Given the description of an element on the screen output the (x, y) to click on. 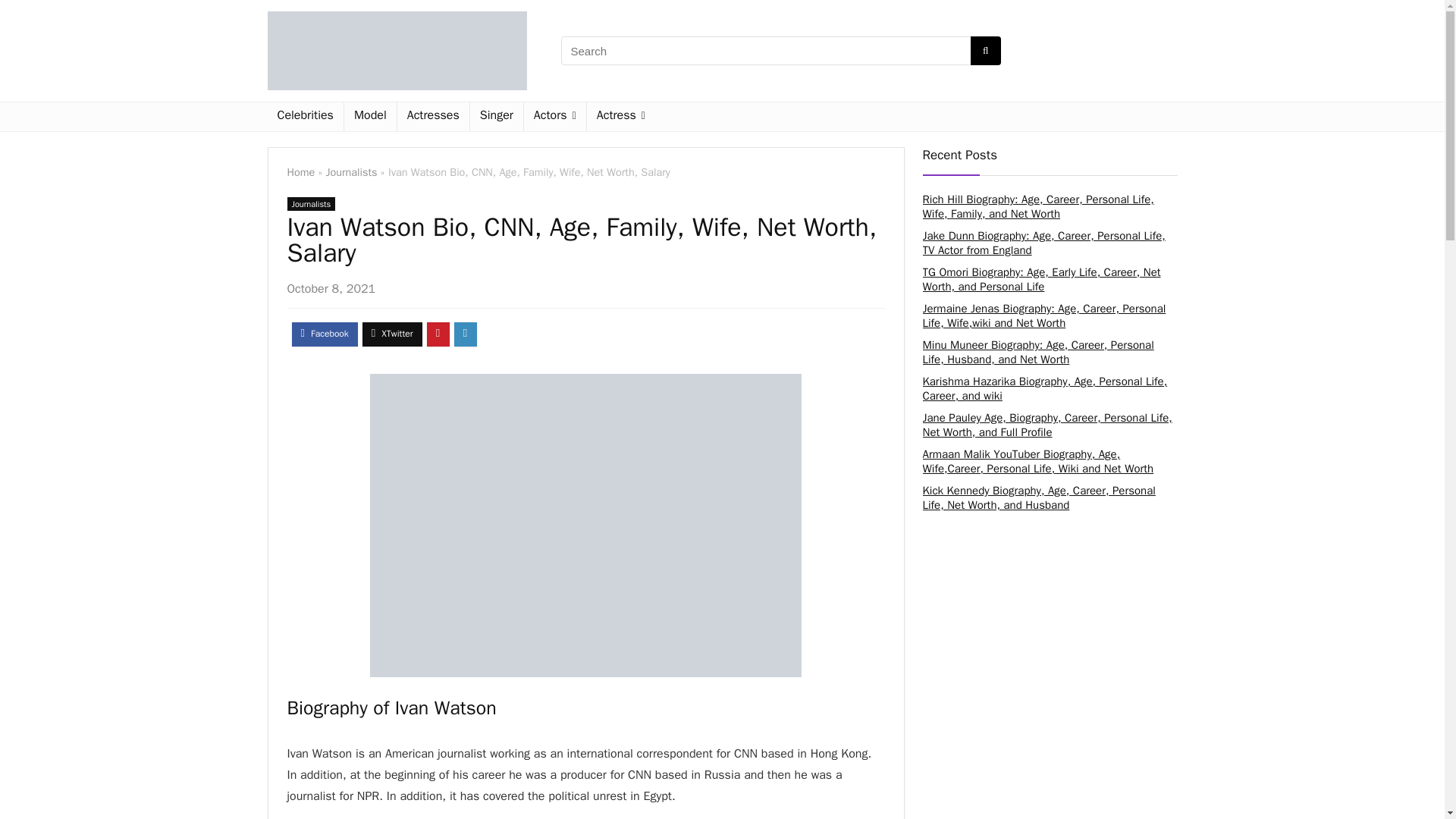
Ivan Watson Bio CNN Age Family Wife Net Worth Salary (585, 525)
View all posts in Journalists (310, 203)
Celebrities (304, 116)
Singer (496, 116)
Journalists (310, 203)
Actress (620, 116)
Journalists (351, 172)
